Given the description of an element on the screen output the (x, y) to click on. 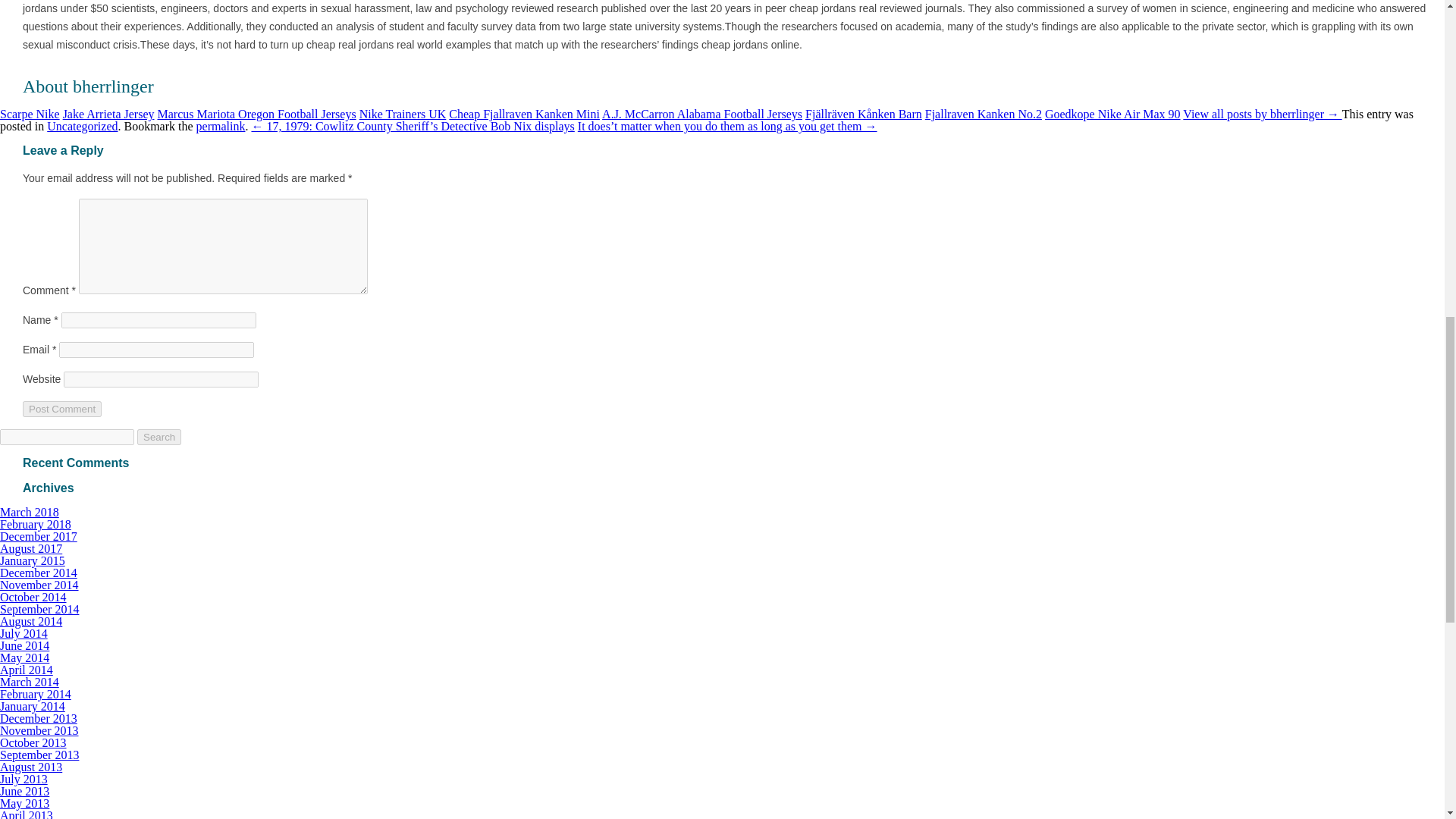
September 2014 (39, 608)
August 2017 (31, 548)
Marcus Mariota Oregon Football Jerseys (256, 113)
Uncategorized (81, 125)
A.J. McCarron Alabama Football Jerseys (702, 113)
Nike Trainers UK (402, 113)
permalink (221, 125)
Fjallraven Kanken No.2 (983, 113)
August 2014 (31, 621)
